Given the description of an element on the screen output the (x, y) to click on. 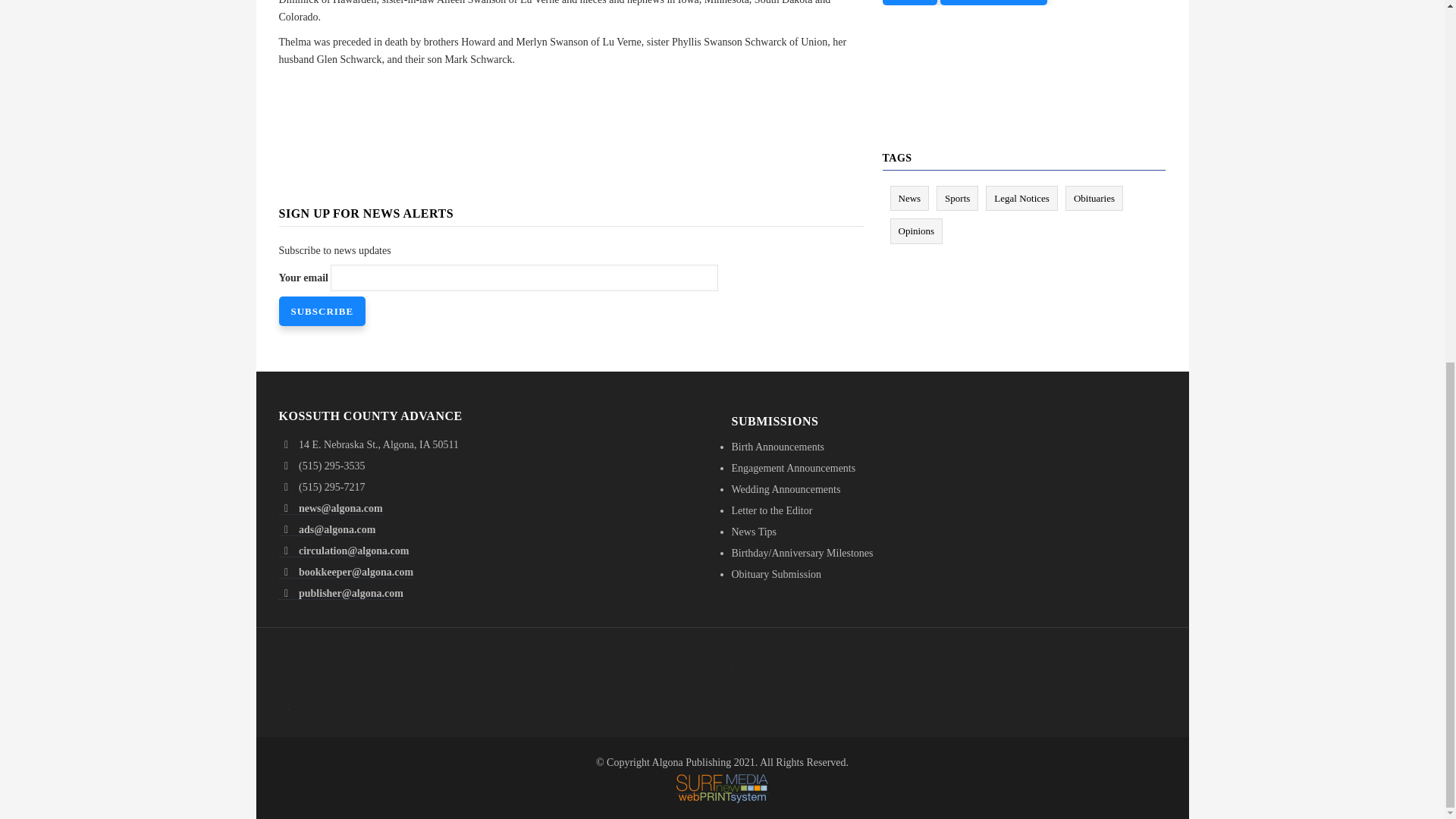
Share to Pinterest (561, 96)
Subscribe (322, 310)
Share to E-mail (603, 96)
Subscribe (322, 310)
Share to Reddit (582, 96)
Share to Facebook (518, 96)
Share to Twitter (539, 96)
